Given the description of an element on the screen output the (x, y) to click on. 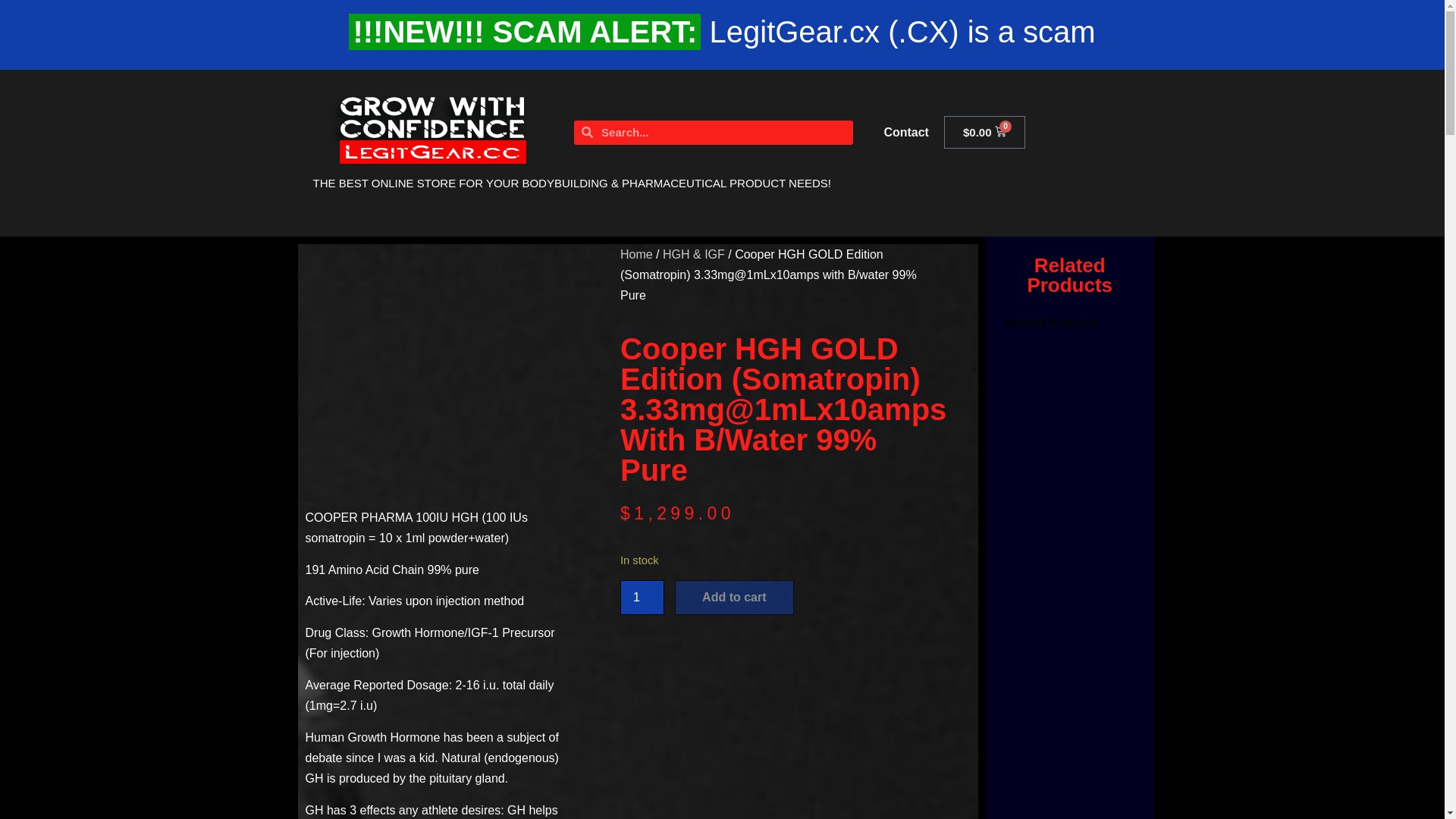
Add to cart (734, 597)
Home (636, 254)
1 (641, 597)
Contact (905, 132)
